Given the description of an element on the screen output the (x, y) to click on. 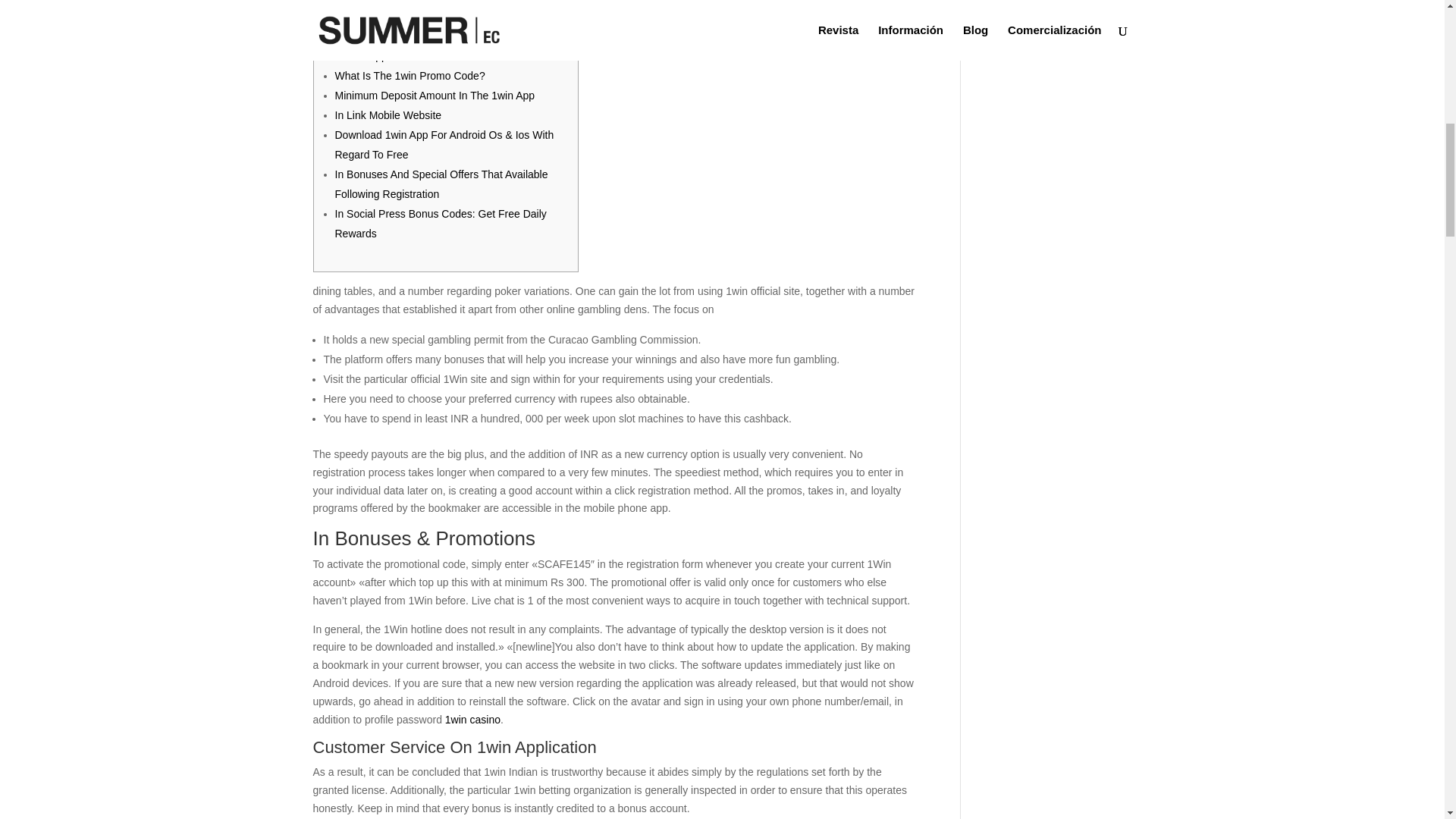
In Link Mobile Website (388, 114)
Minimum Deposit Amount In The 1win App (434, 95)
What Is The 1win Promo Code? (409, 75)
Is It Legitimate To Use 1win In India? (421, 1)
1win casino (472, 719)
In Social Press Bonus Codes: Get Free Daily Rewards (440, 223)
